Given the description of an element on the screen output the (x, y) to click on. 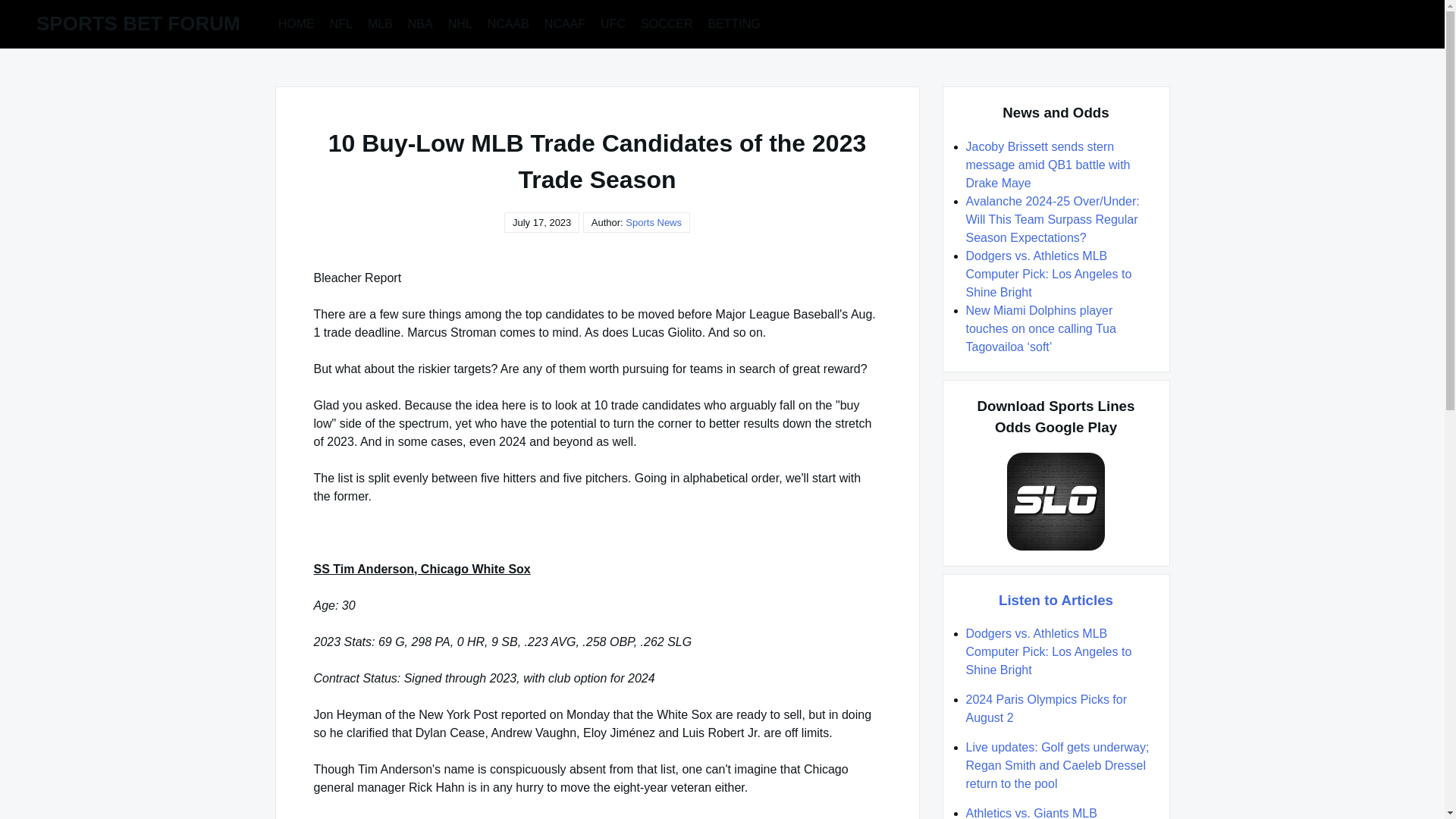
Sports News (653, 222)
MLB (379, 23)
SOCCER (666, 23)
HOME (295, 23)
SPORTS BET FORUM (138, 23)
UFC (612, 23)
NCAAF (564, 23)
NCAAB (508, 23)
NHL (460, 23)
Posts by Sports News (653, 222)
BETTING (733, 23)
NFL (340, 23)
NBA (420, 23)
